Given the description of an element on the screen output the (x, y) to click on. 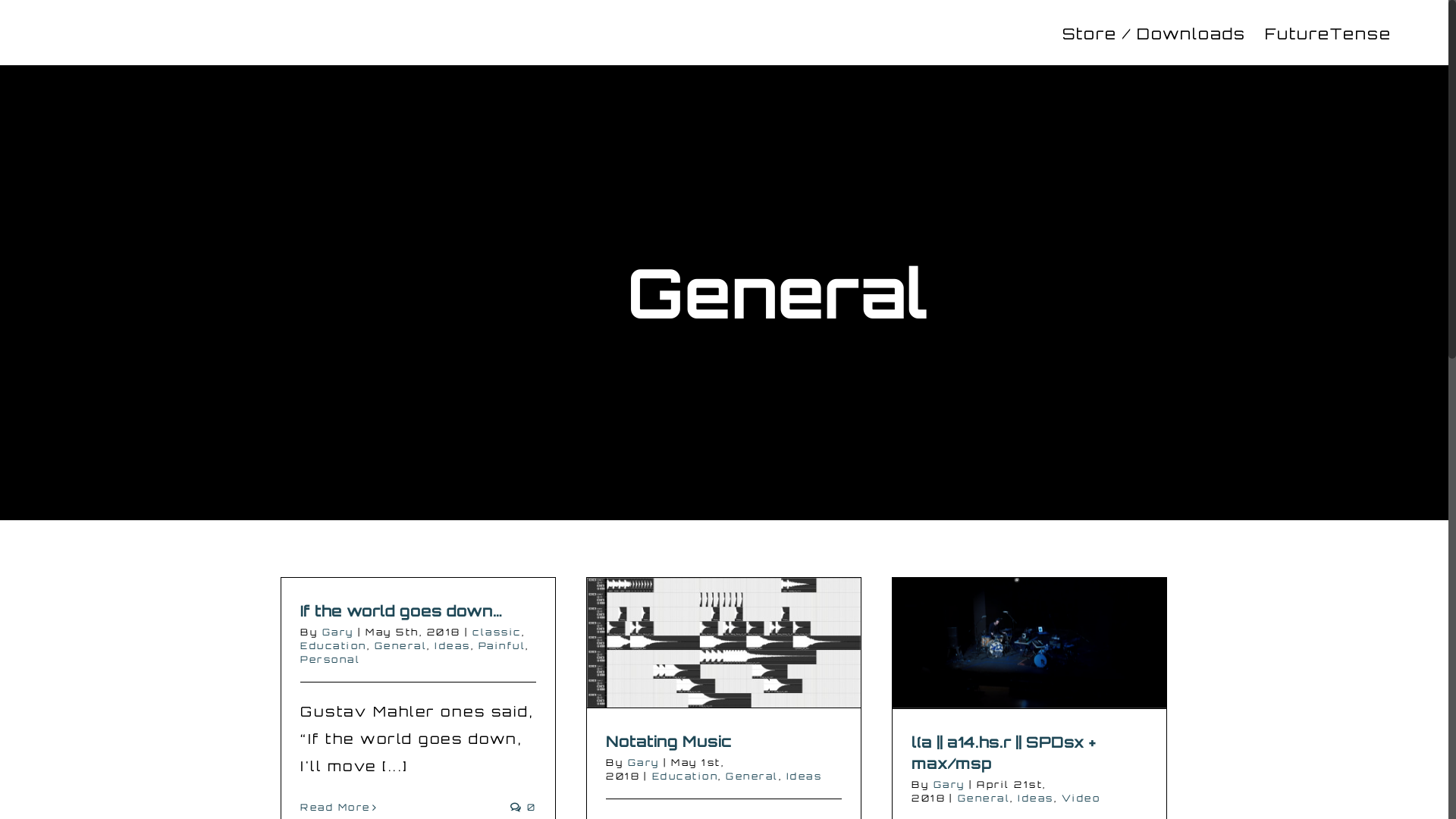
Ideas Element type: text (1035, 797)
 0 Element type: text (523, 806)
Gary Element type: text (643, 762)
General Element type: text (983, 797)
Store / Downloads Element type: text (1153, 32)
Gary Element type: text (948, 784)
Painful Element type: text (501, 645)
Gary Element type: text (337, 631)
Notating Music Element type: text (668, 740)
FutureTense Element type: text (1327, 32)
l(a || a14.hs.r || SPDsx + max/msp Element type: text (1003, 752)
General Element type: text (751, 775)
Read More Element type: text (335, 806)
Education Element type: text (685, 775)
Personal Element type: text (330, 659)
Education Element type: text (333, 645)
Video Element type: text (1081, 797)
classic Element type: text (496, 631)
Ideas Element type: text (803, 775)
Ideas Element type: text (452, 645)
General Element type: text (400, 645)
